Given the description of an element on the screen output the (x, y) to click on. 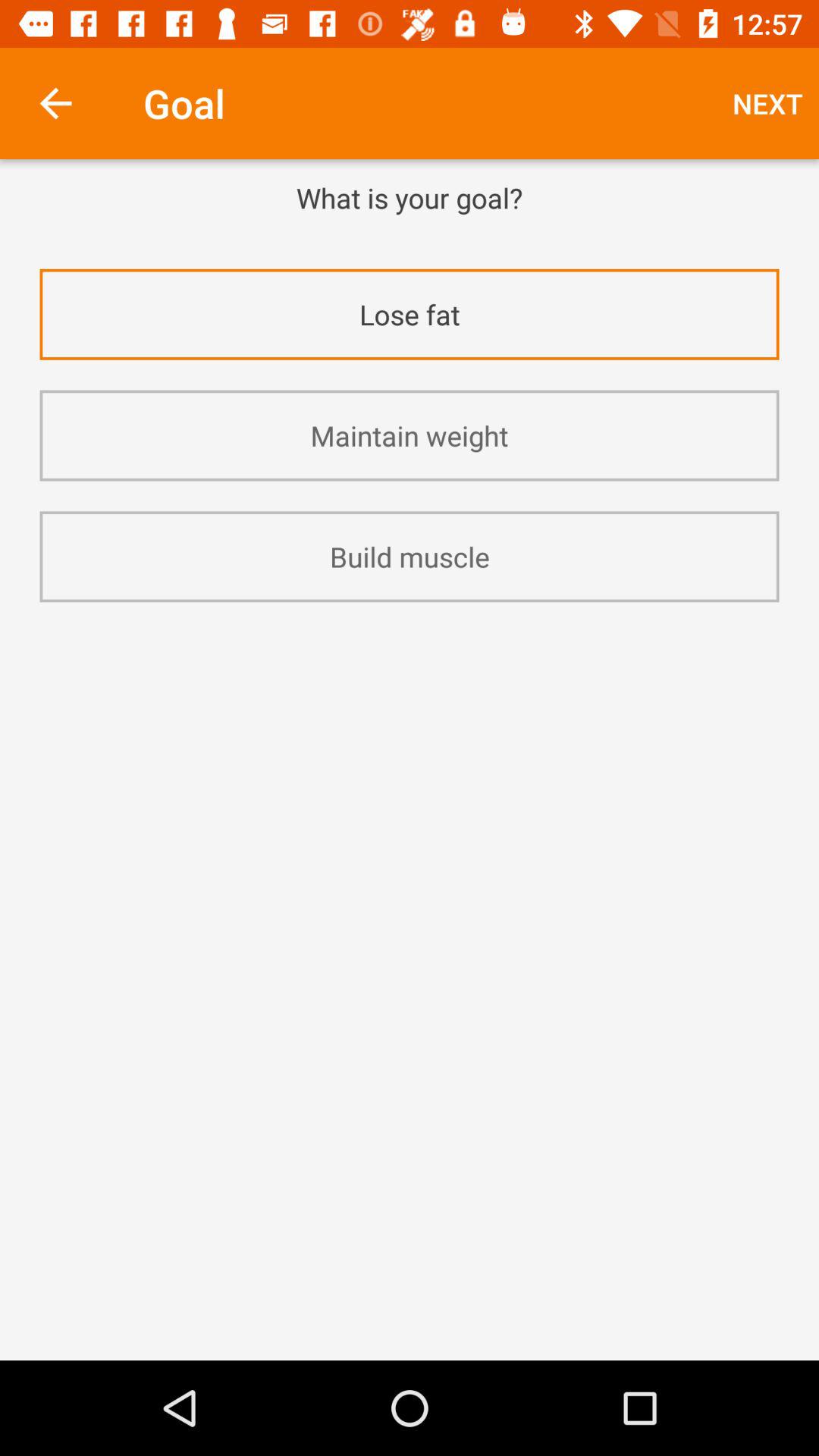
turn on item to the right of goal (767, 103)
